Given the description of an element on the screen output the (x, y) to click on. 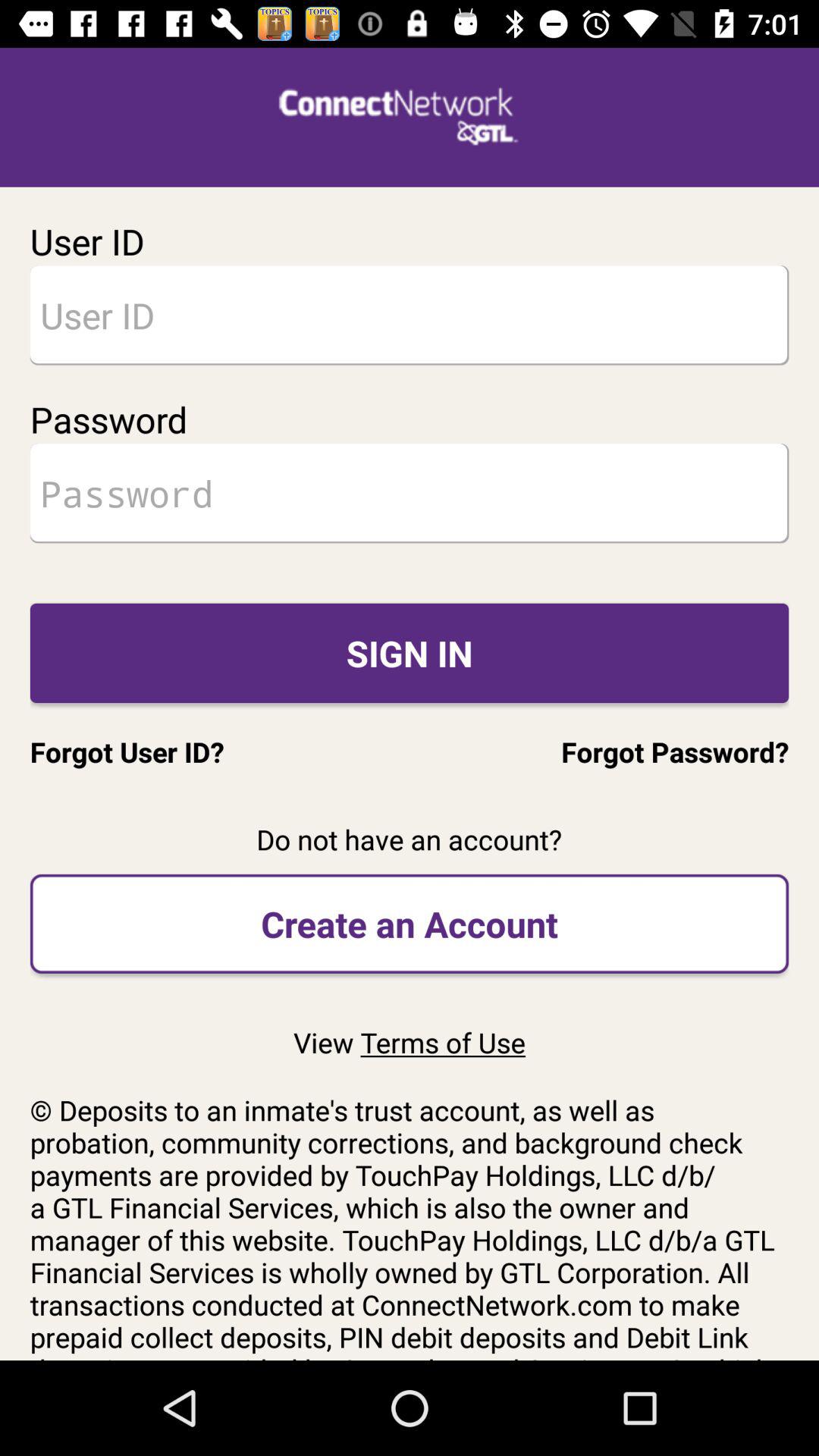
choose icon above the forgot user id? icon (409, 652)
